Given the description of an element on the screen output the (x, y) to click on. 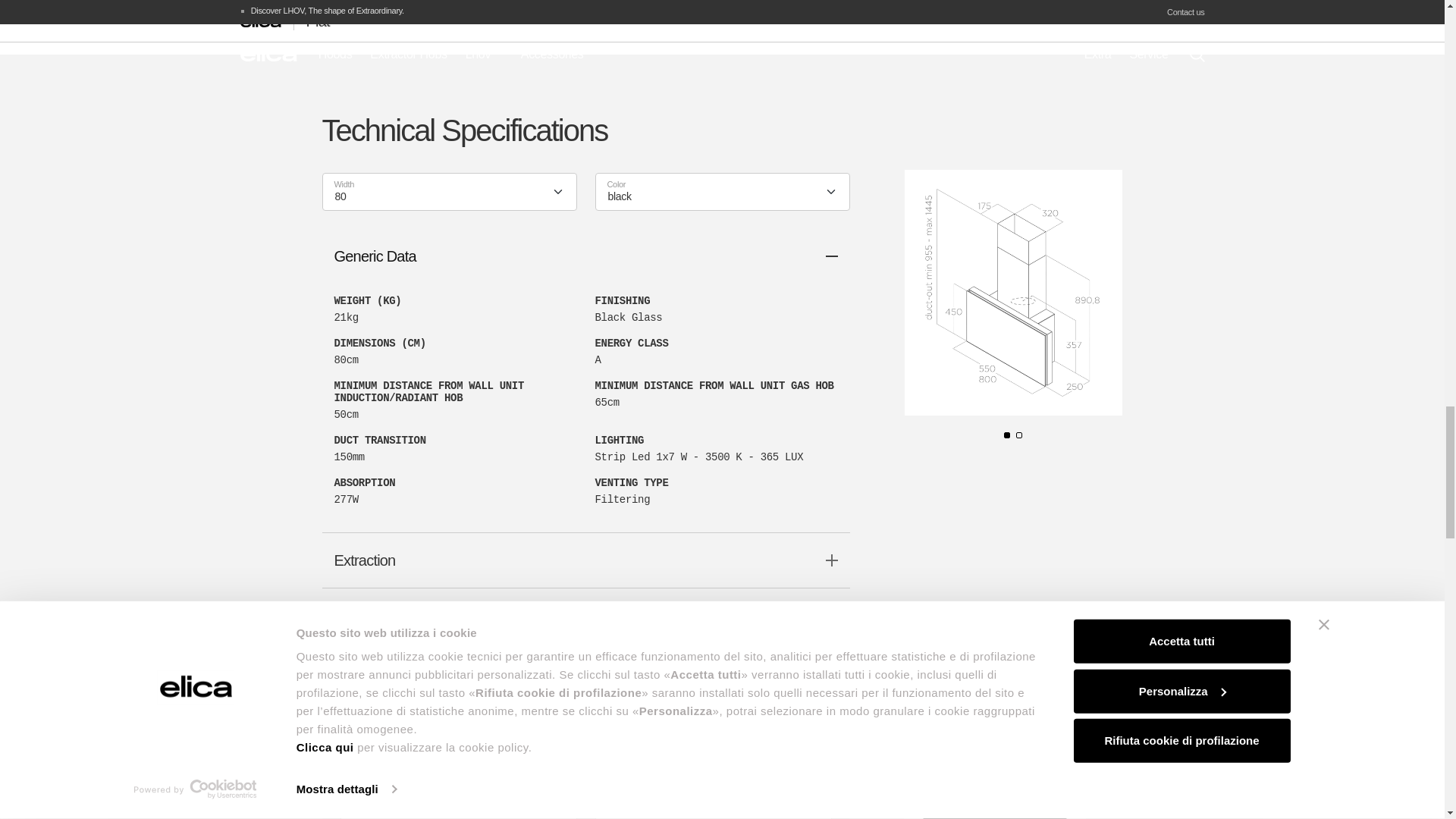
black (701, 809)
80 (437, 196)
80 (446, 809)
black (710, 196)
